Given the description of an element on the screen output the (x, y) to click on. 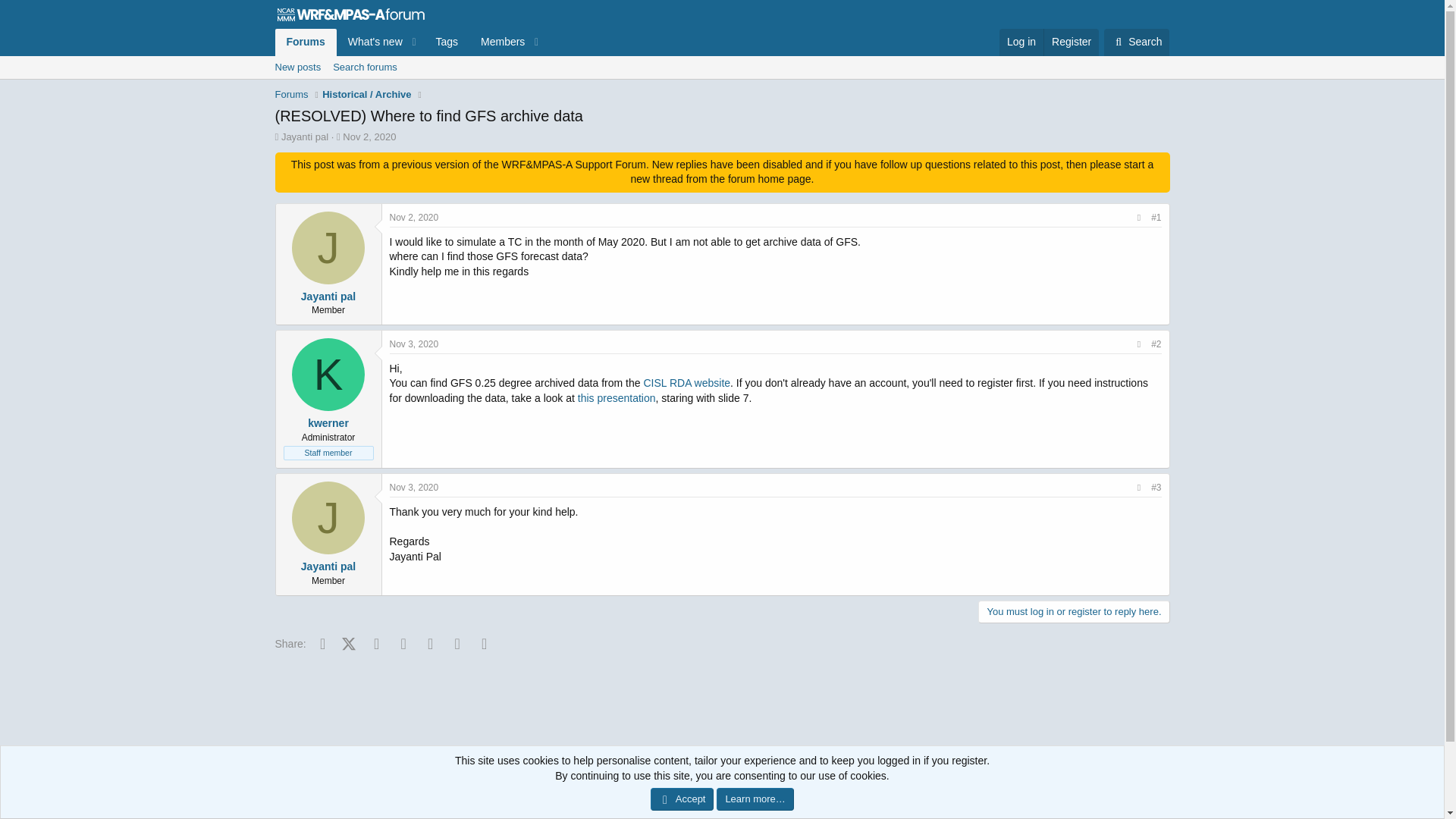
J (410, 42)
Members (328, 247)
Nov 3, 2020 at 11:12 PM (496, 42)
Tags (414, 487)
RSS (445, 42)
Nov 2, 2020 (1161, 803)
Nov 2, 2020 at 11:37 PM (414, 217)
Nov 2, 2020 (369, 136)
Log in (369, 136)
Nov 3, 2020 at 1:52 PM (1020, 42)
Search (414, 344)
Forums (1136, 42)
Search forums (305, 42)
